Given the description of an element on the screen output the (x, y) to click on. 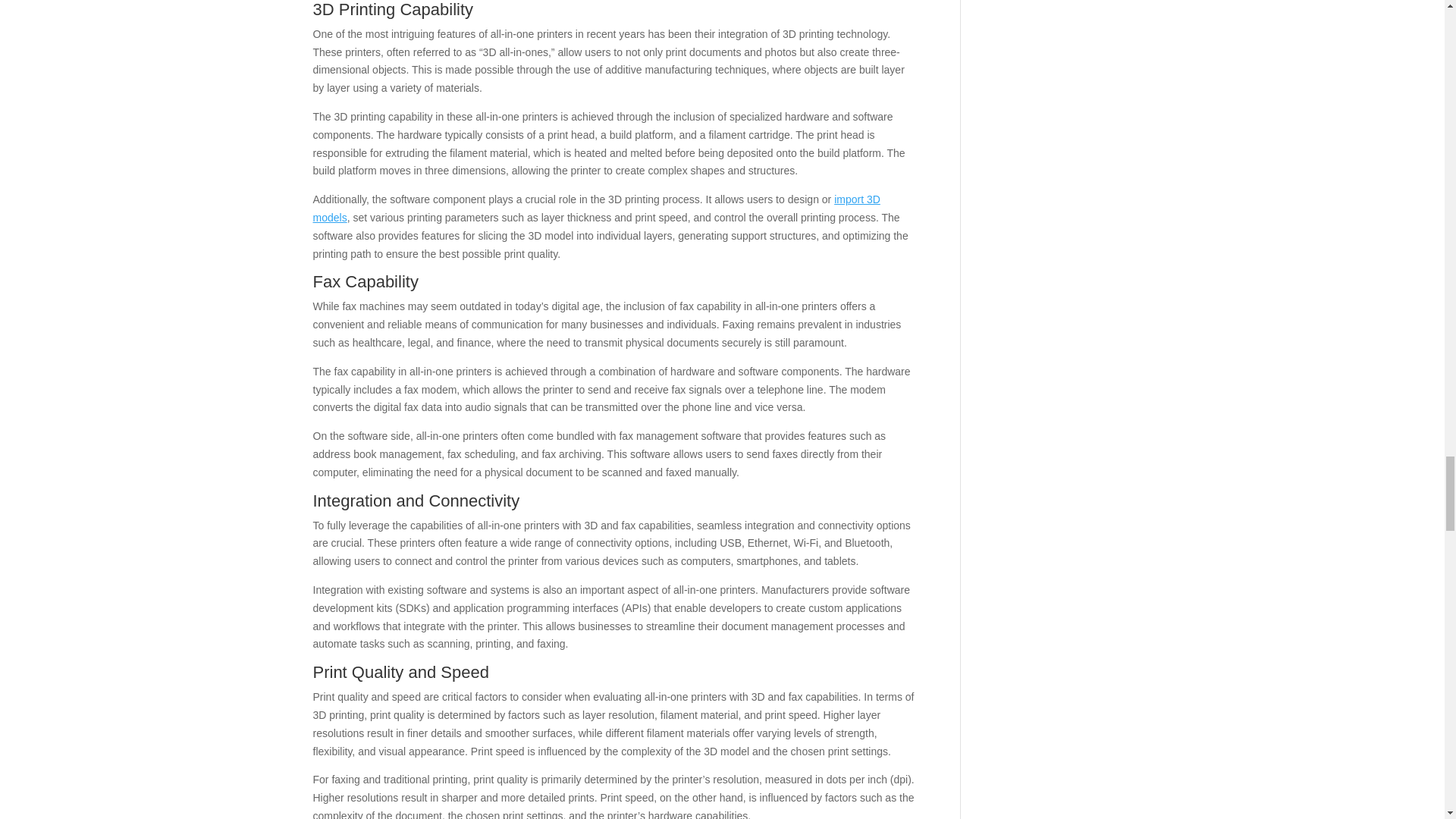
import 3D models (596, 208)
